Given the description of an element on the screen output the (x, y) to click on. 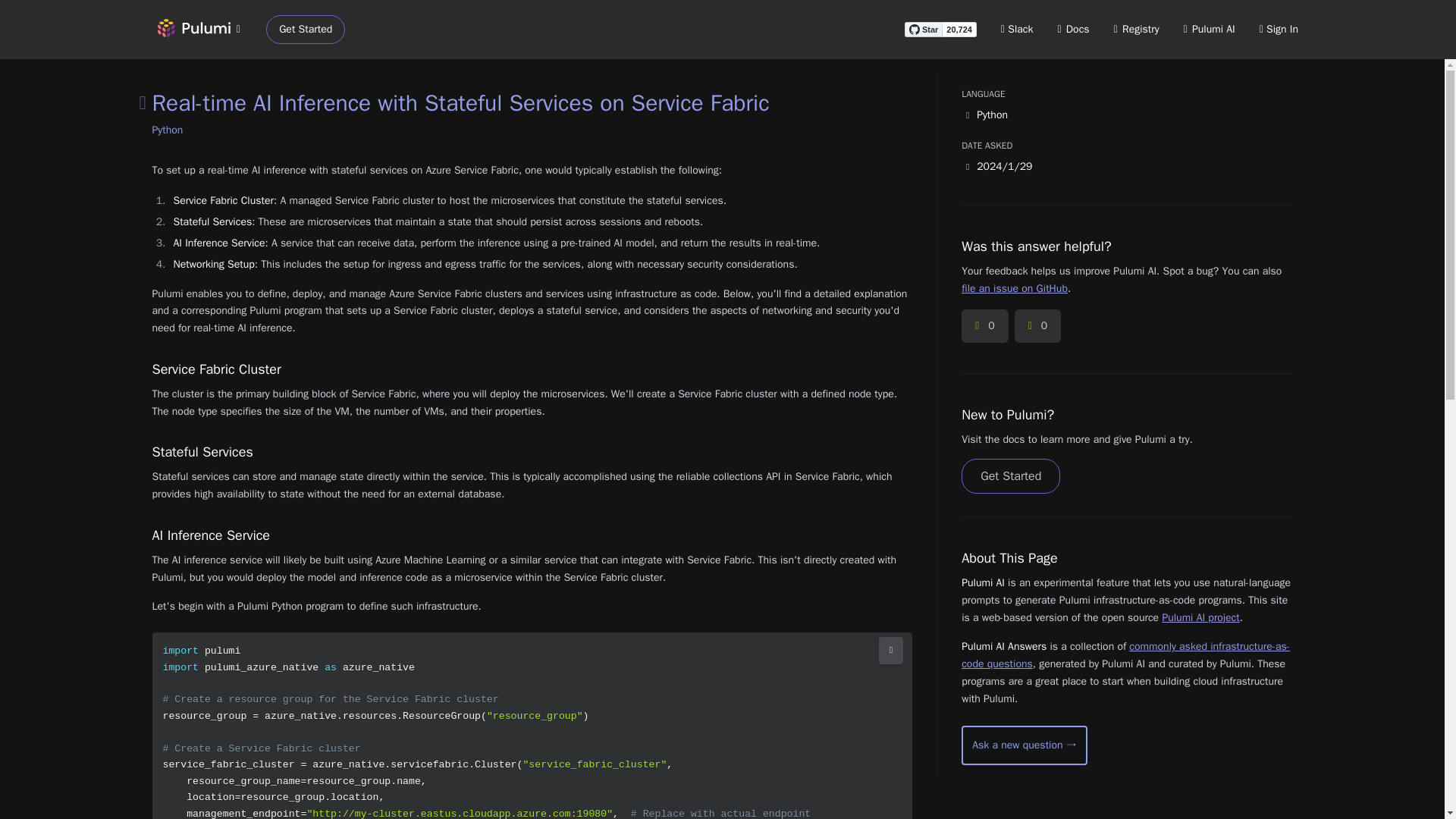
Sign In (1278, 29)
0 (984, 326)
Get Started (1009, 475)
Start a new conversation with Pulumi AI (1023, 744)
 Star (923, 29)
20,724 (959, 29)
file an issue on GitHub (1013, 287)
Get Started (305, 29)
Docs (1073, 29)
Slack (1017, 29)
